Given the description of an element on the screen output the (x, y) to click on. 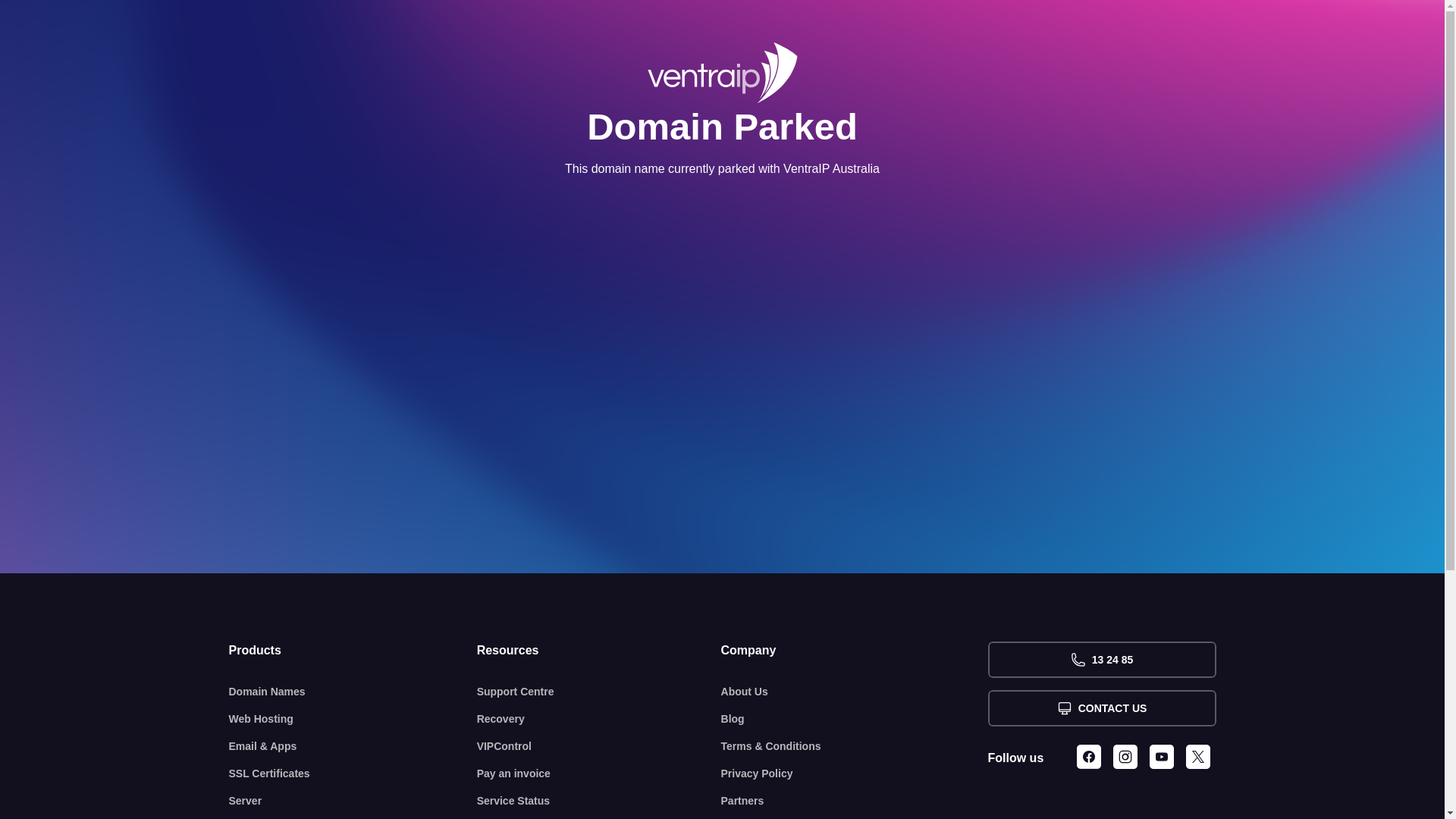
Email & Apps Element type: text (352, 745)
Recovery Element type: text (598, 718)
Server Element type: text (352, 800)
SSL Certificates Element type: text (352, 773)
Domain Names Element type: text (352, 691)
Privacy Policy Element type: text (854, 773)
CONTACT US Element type: text (1101, 708)
Terms & Conditions Element type: text (854, 745)
About Us Element type: text (854, 691)
Blog Element type: text (854, 718)
Support Centre Element type: text (598, 691)
Service Status Element type: text (598, 800)
Partners Element type: text (854, 800)
13 24 85 Element type: text (1101, 659)
VIPControl Element type: text (598, 745)
Pay an invoice Element type: text (598, 773)
Web Hosting Element type: text (352, 718)
